Given the description of an element on the screen output the (x, y) to click on. 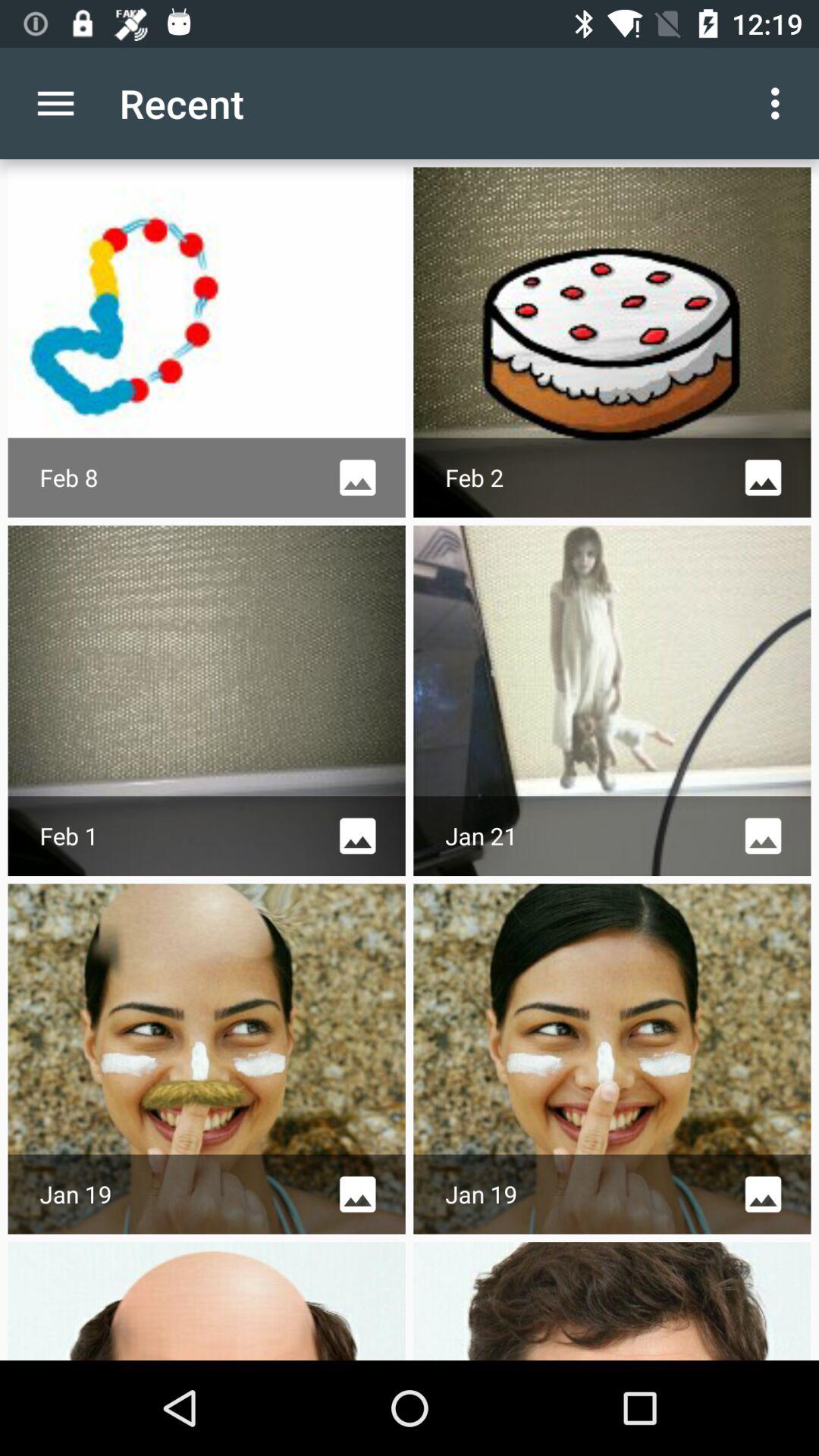
tap the item to the right of recent icon (779, 103)
